Given the description of an element on the screen output the (x, y) to click on. 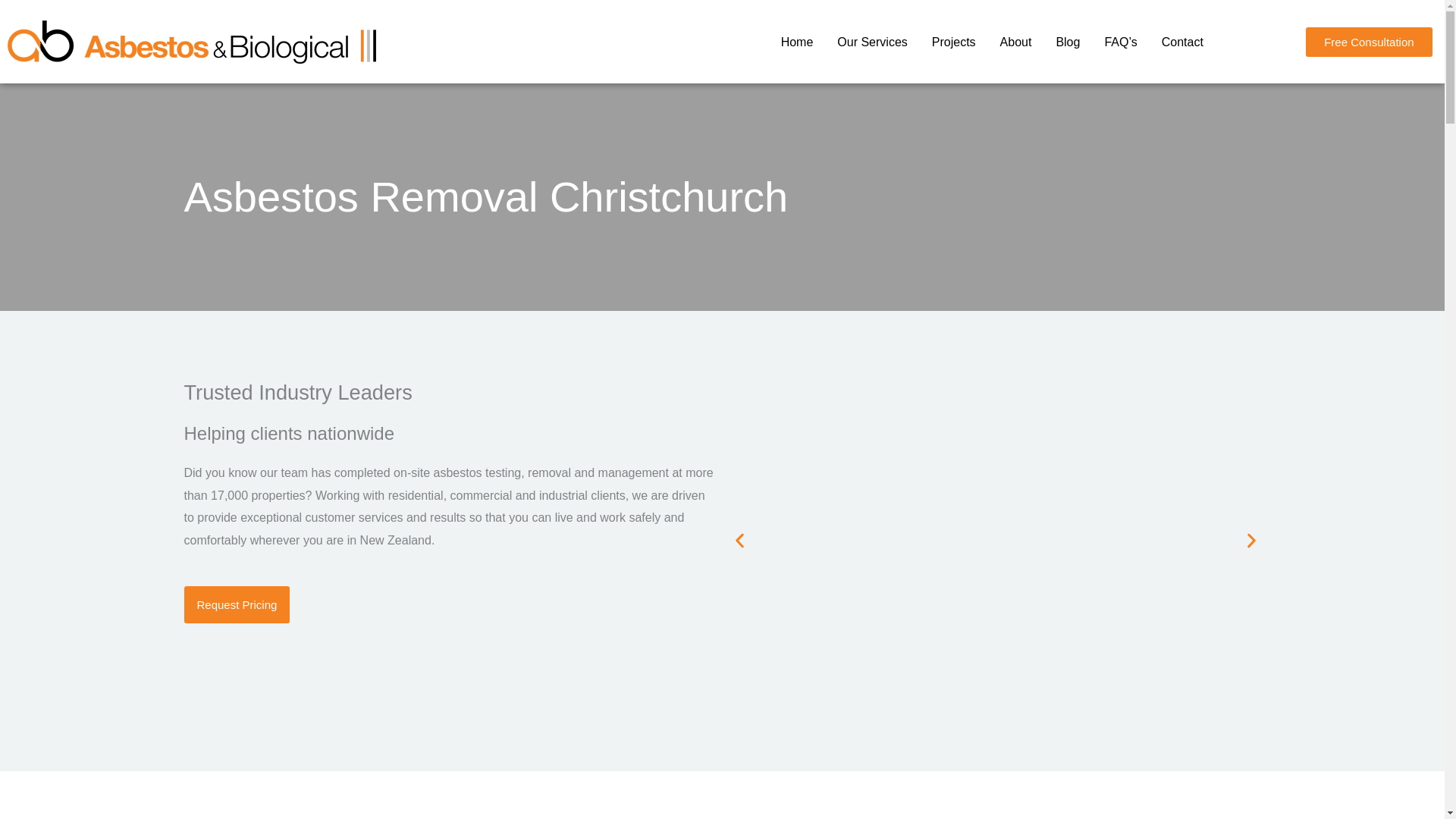
Projects (954, 42)
About (1015, 42)
Home (796, 42)
Our Services (871, 42)
Contact (1182, 42)
